Given the description of an element on the screen output the (x, y) to click on. 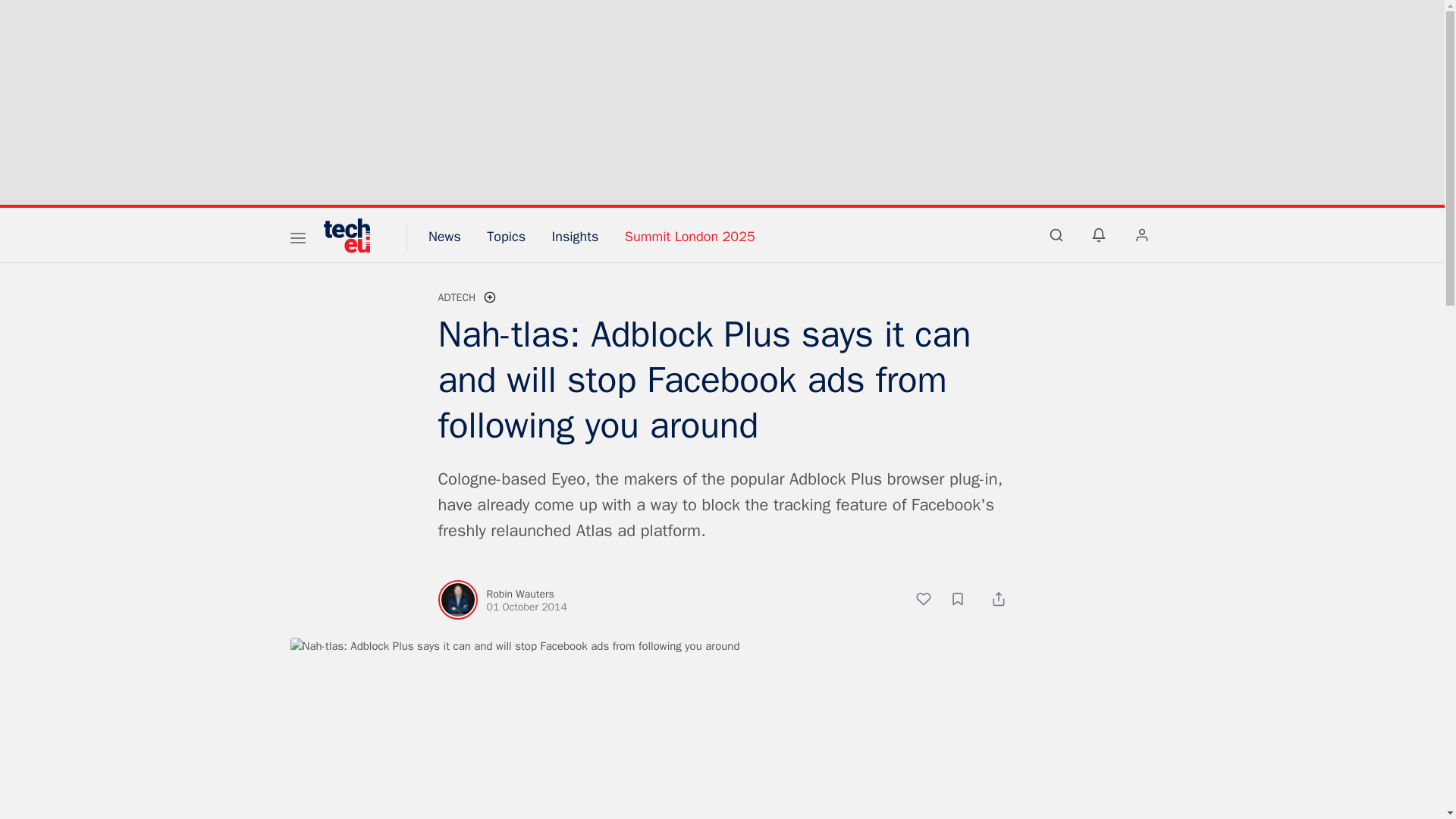
Topics (505, 236)
Summit London 2025 (689, 236)
Add to Collection (964, 600)
Adtech (457, 297)
Insights (574, 236)
News (444, 236)
Like (930, 600)
